Given the description of an element on the screen output the (x, y) to click on. 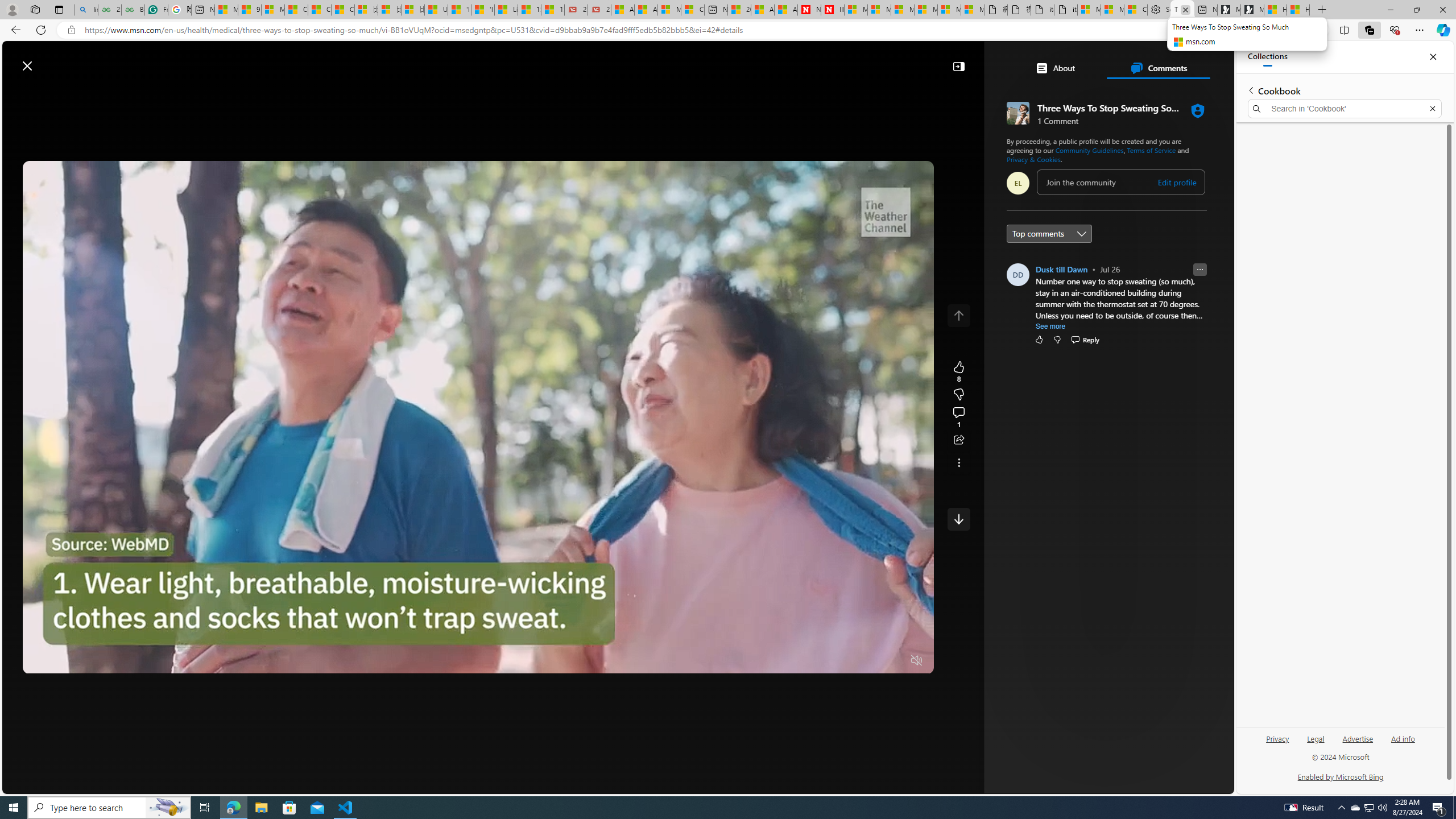
Search in 'Cookbook' (1345, 108)
15 Ways Modern Life Contradicts the Teachings of Jesus (552, 9)
Profile Picture (1017, 274)
Comments (1157, 67)
Try personal training with ... (1123, 515)
